Given the description of an element on the screen output the (x, y) to click on. 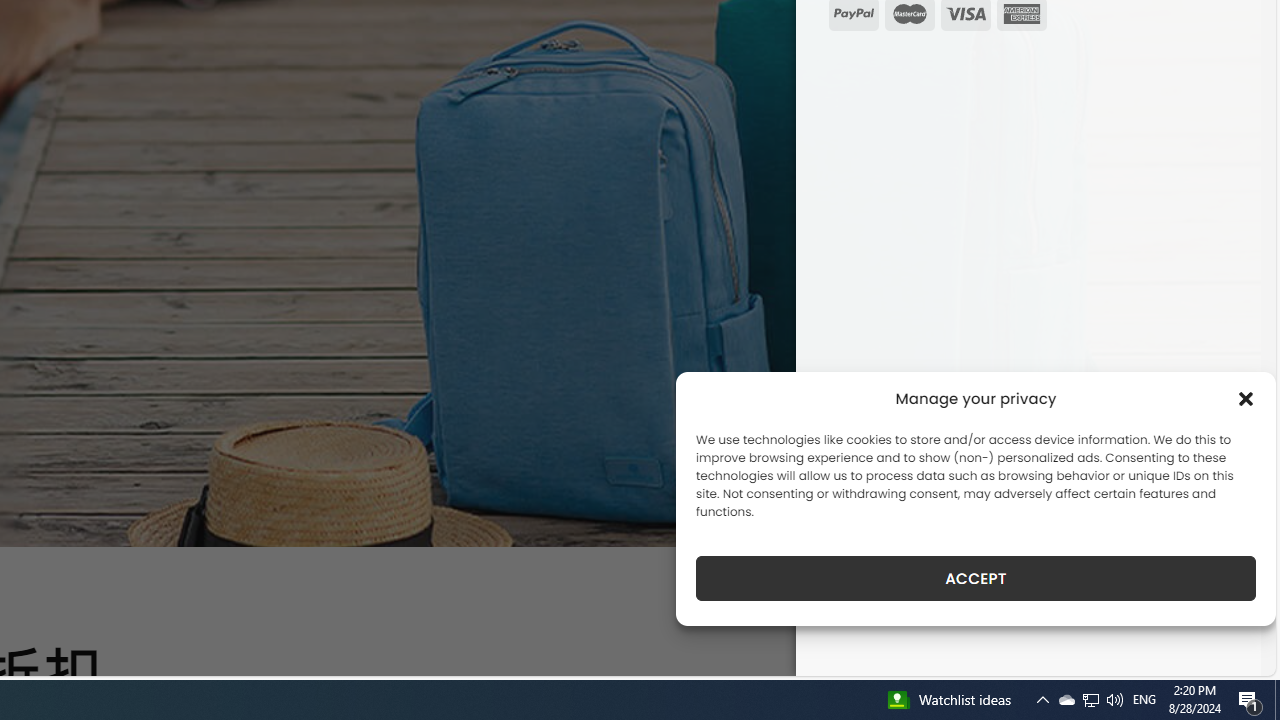
Class: cmplz-close (1245, 398)
ACCEPT (975, 578)
